Given the description of an element on the screen output the (x, y) to click on. 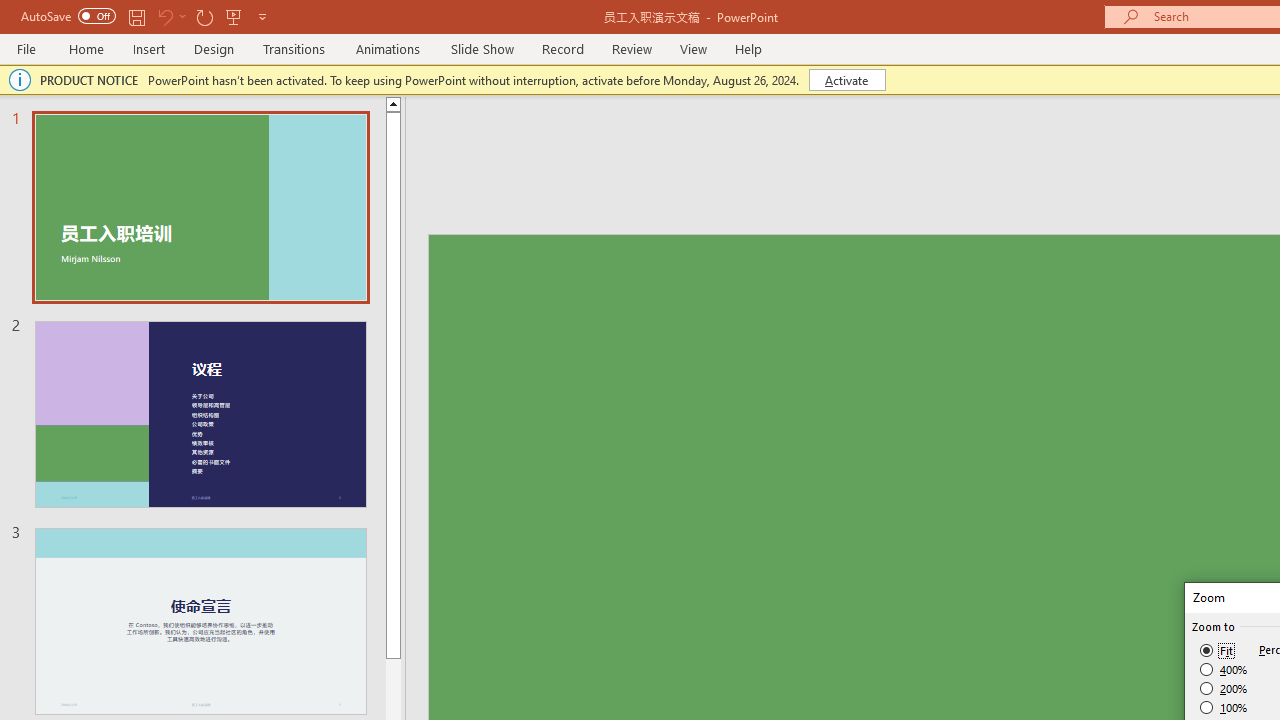
Adjust indents and spacing - Microsoft Support (42, 613)
Office (864, 208)
Support (563, 213)
Microsoft (335, 213)
Office (864, 208)
